Given the description of an element on the screen output the (x, y) to click on. 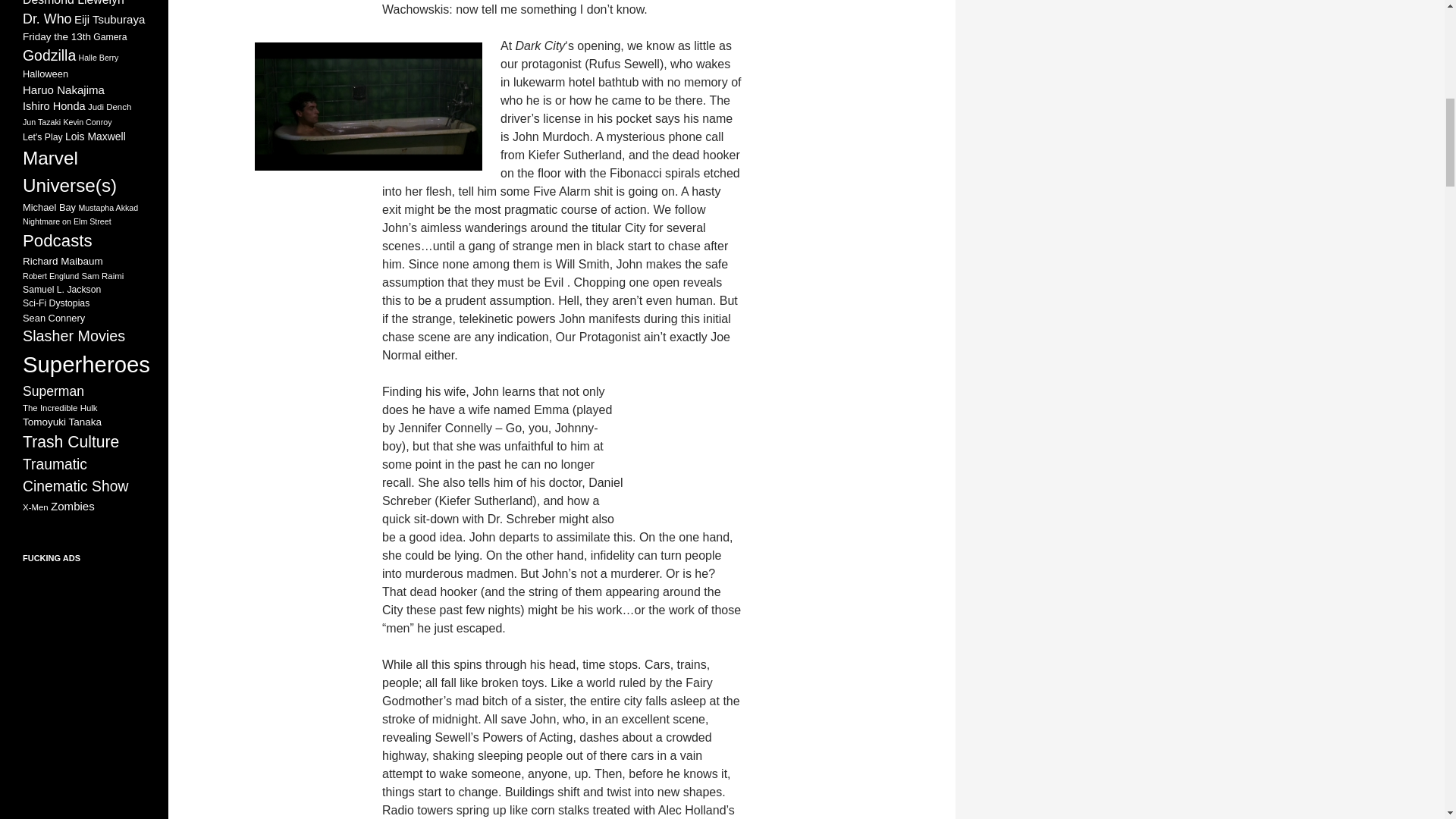
Get your noir on. (755, 452)
Another Tuesday morning at my house... (367, 106)
